Given the description of an element on the screen output the (x, y) to click on. 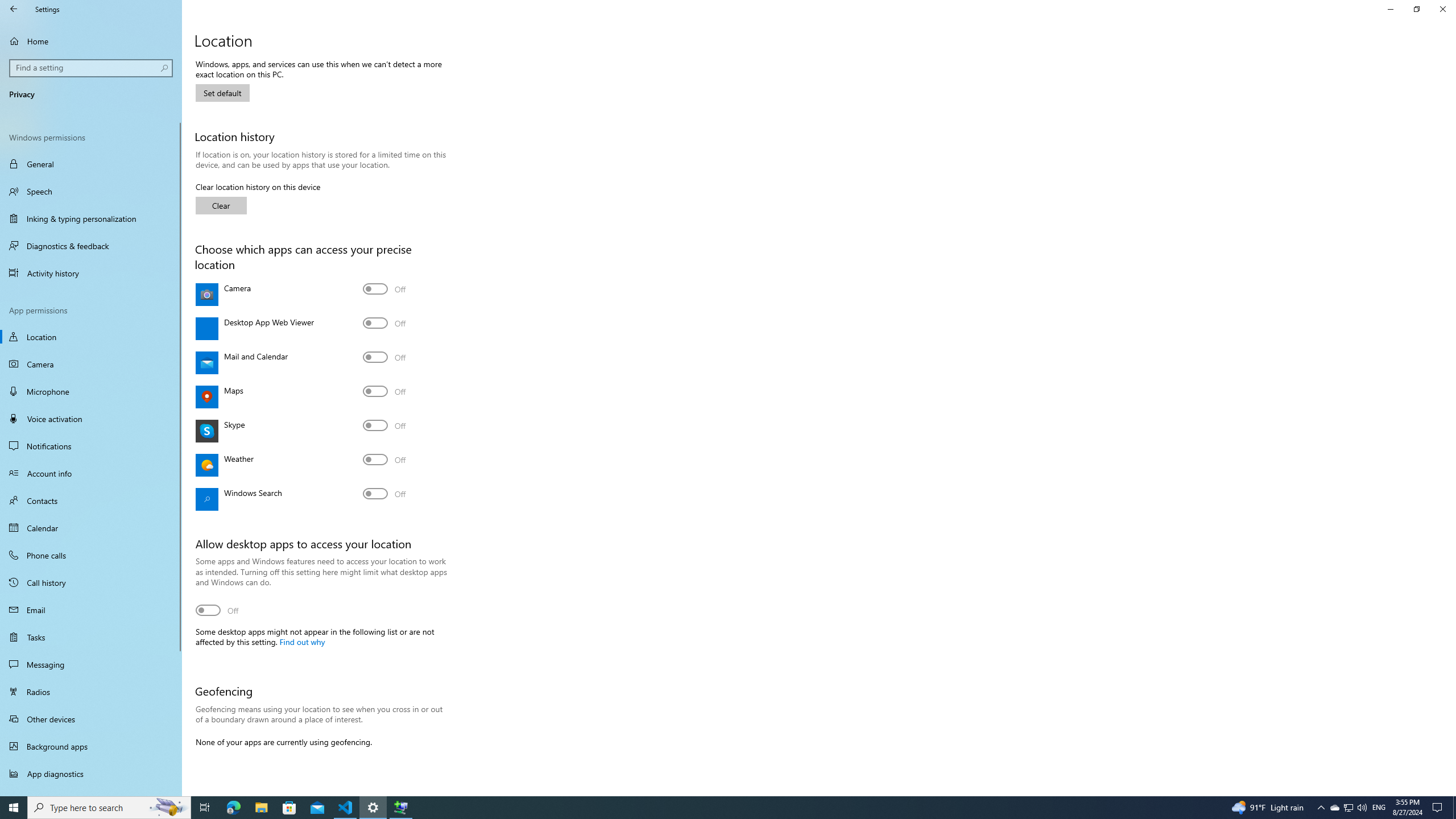
Calendar (91, 527)
Running applications (706, 807)
Desktop App Web Viewer (384, 322)
Other devices (91, 718)
Mail and Calendar (384, 357)
Minimize Settings (1390, 9)
Call history (91, 582)
Contacts (91, 500)
Automatic file downloads (91, 791)
Tray Input Indicator - English (United States) (1378, 807)
Account info (91, 472)
